Given the description of an element on the screen output the (x, y) to click on. 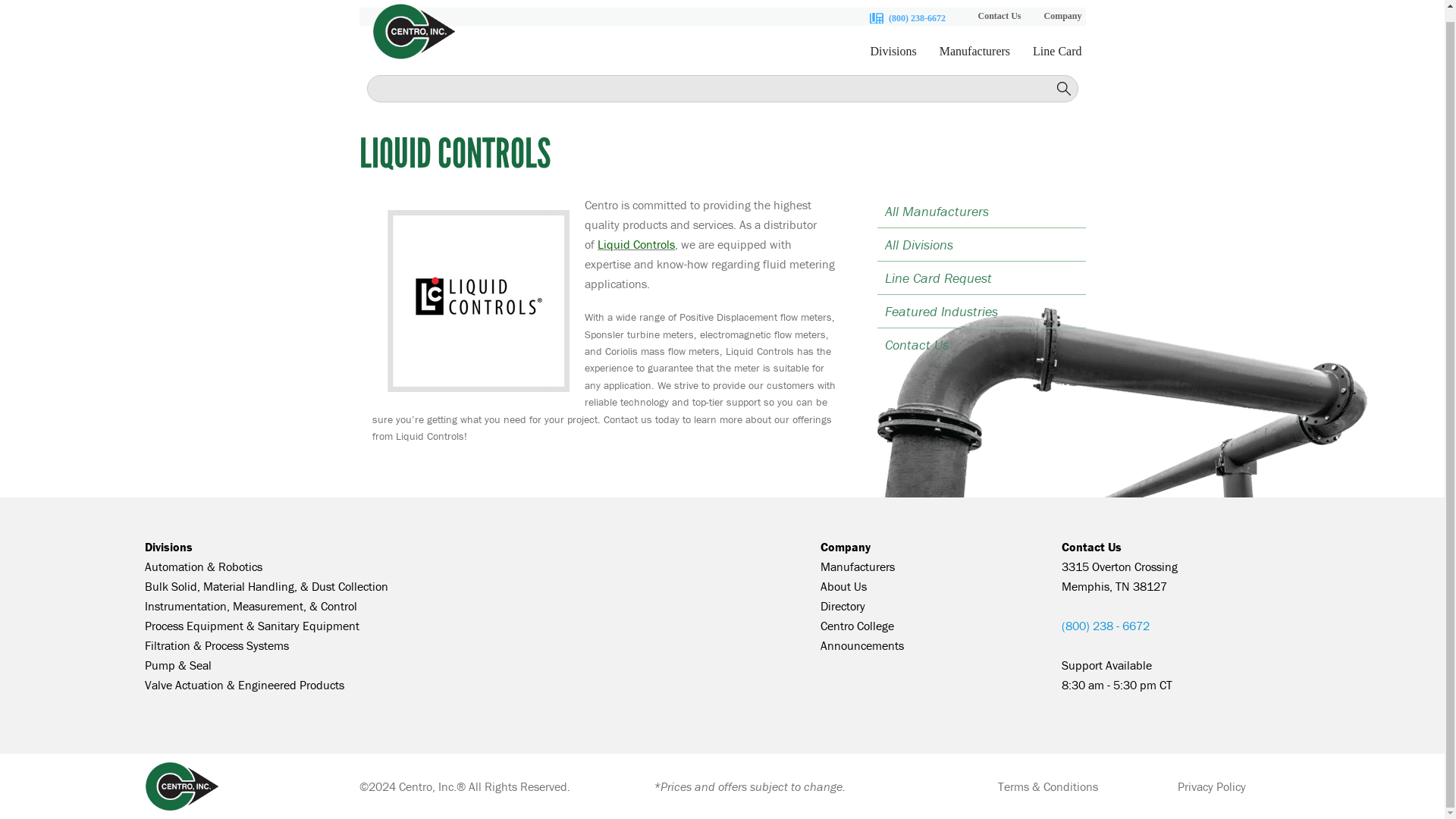
Line Card (1056, 58)
Divisions (893, 58)
About Us (843, 585)
Manufacturers (974, 58)
All Divisions (980, 244)
Contact Us (980, 344)
Company (1061, 18)
Divisions (168, 546)
Search (1064, 88)
All Manufacturers (980, 210)
Directory (842, 605)
Manufacturers (858, 566)
Announcements (862, 645)
Line Card Request (980, 277)
Company (845, 546)
